Given the description of an element on the screen output the (x, y) to click on. 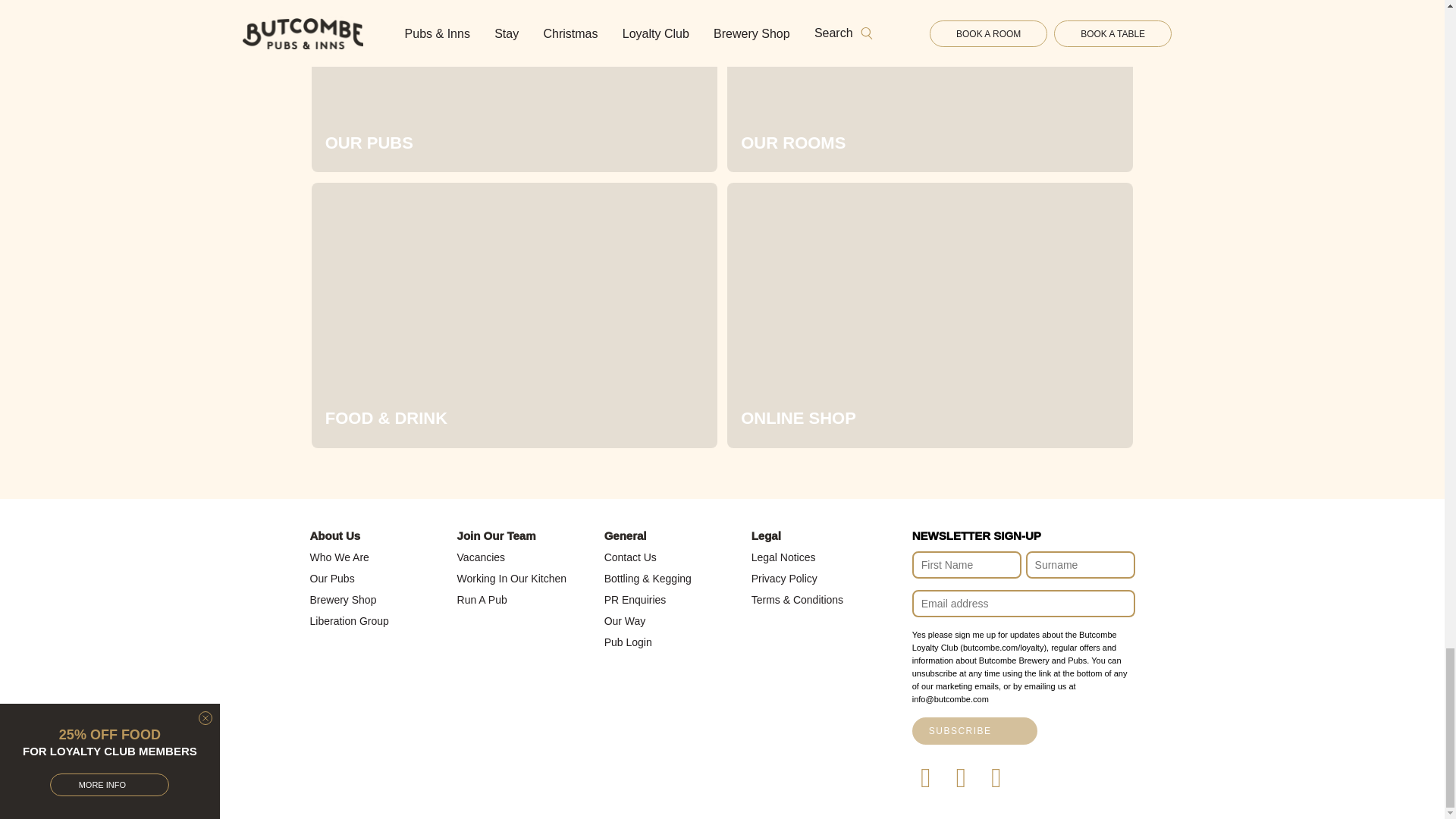
subscribe (974, 730)
